Given the description of an element on the screen output the (x, y) to click on. 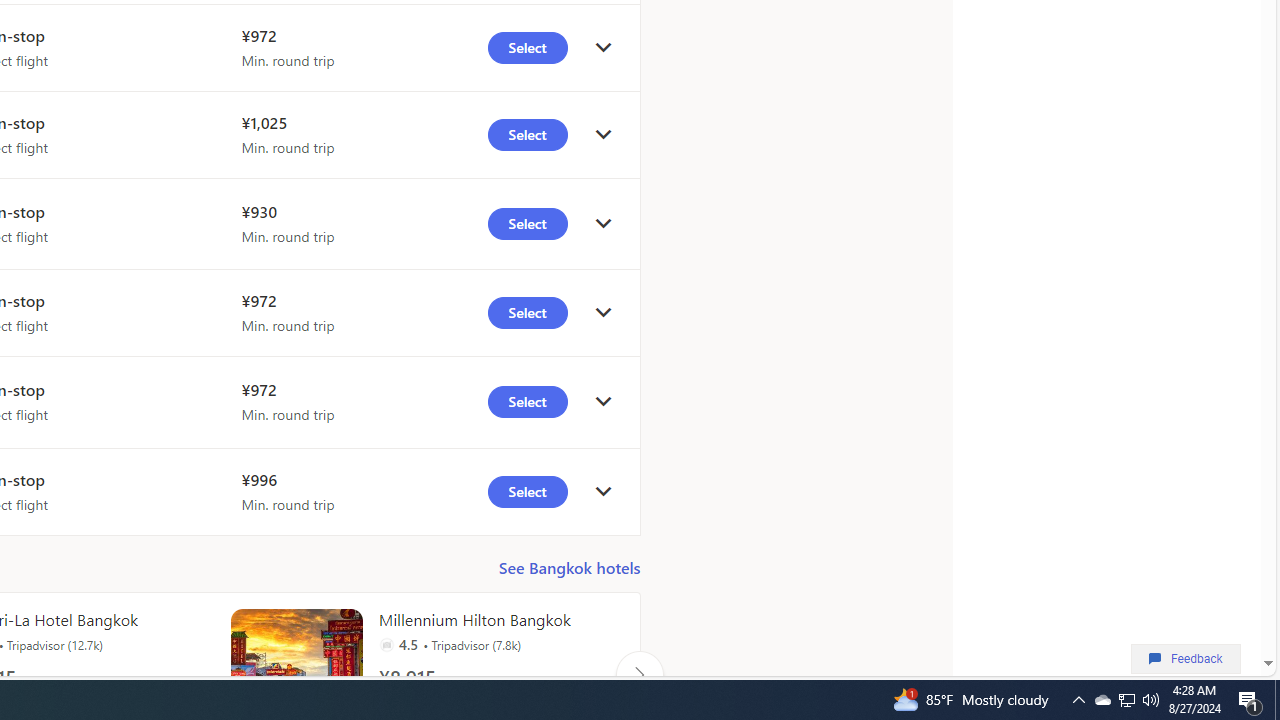
click to get details (603, 491)
Click to scroll right (639, 674)
Tripadvisor (386, 644)
